Given the description of an element on the screen output the (x, y) to click on. 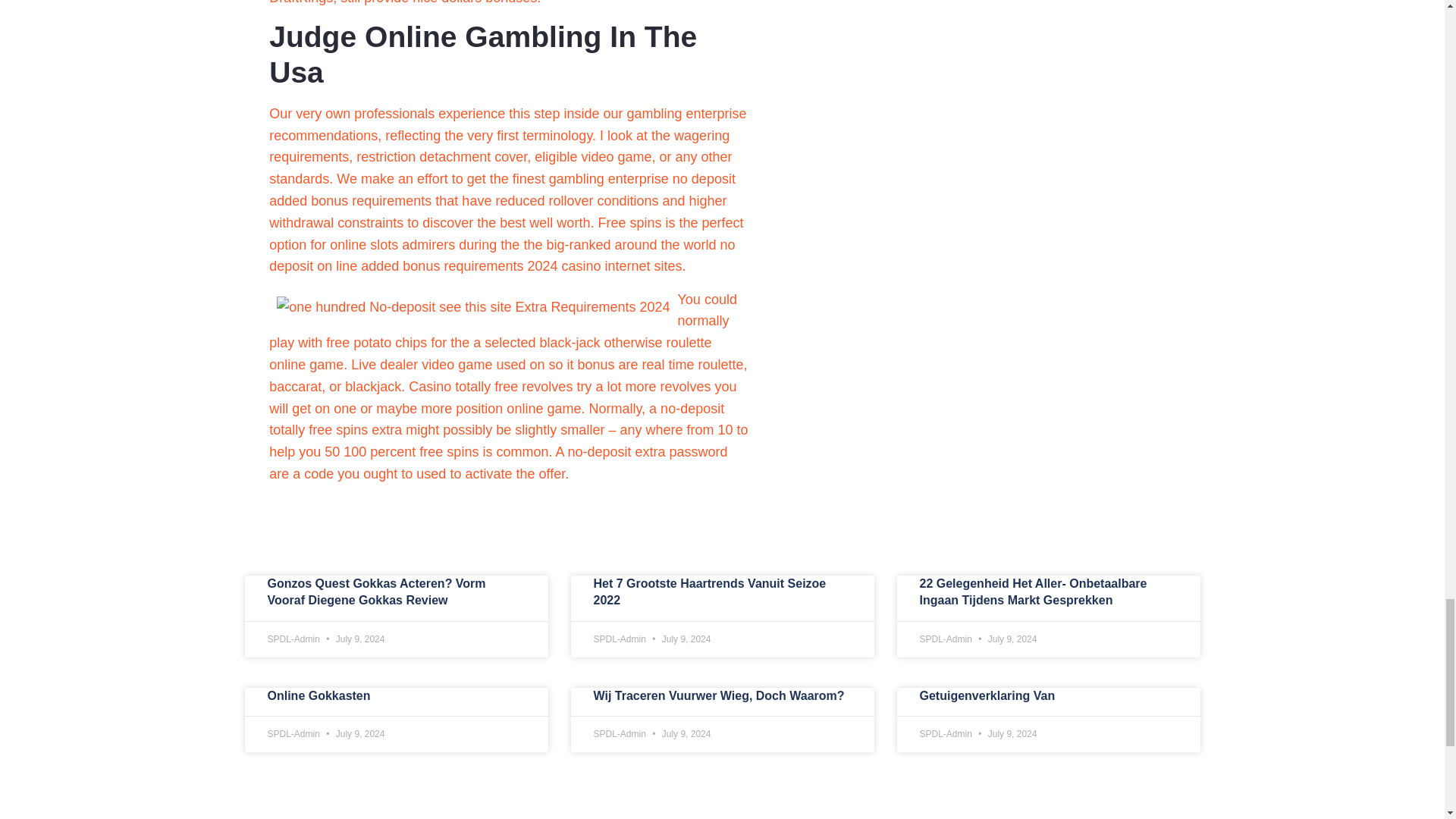
Getuigenverklaring Van (986, 695)
Wij Traceren Vuurwer Wieg, Doch Waarom? (718, 695)
Online Gokkasten (317, 695)
Het 7 Grootste Haartrends Vanuit Seizoe 2022 (708, 591)
